Given the description of an element on the screen output the (x, y) to click on. 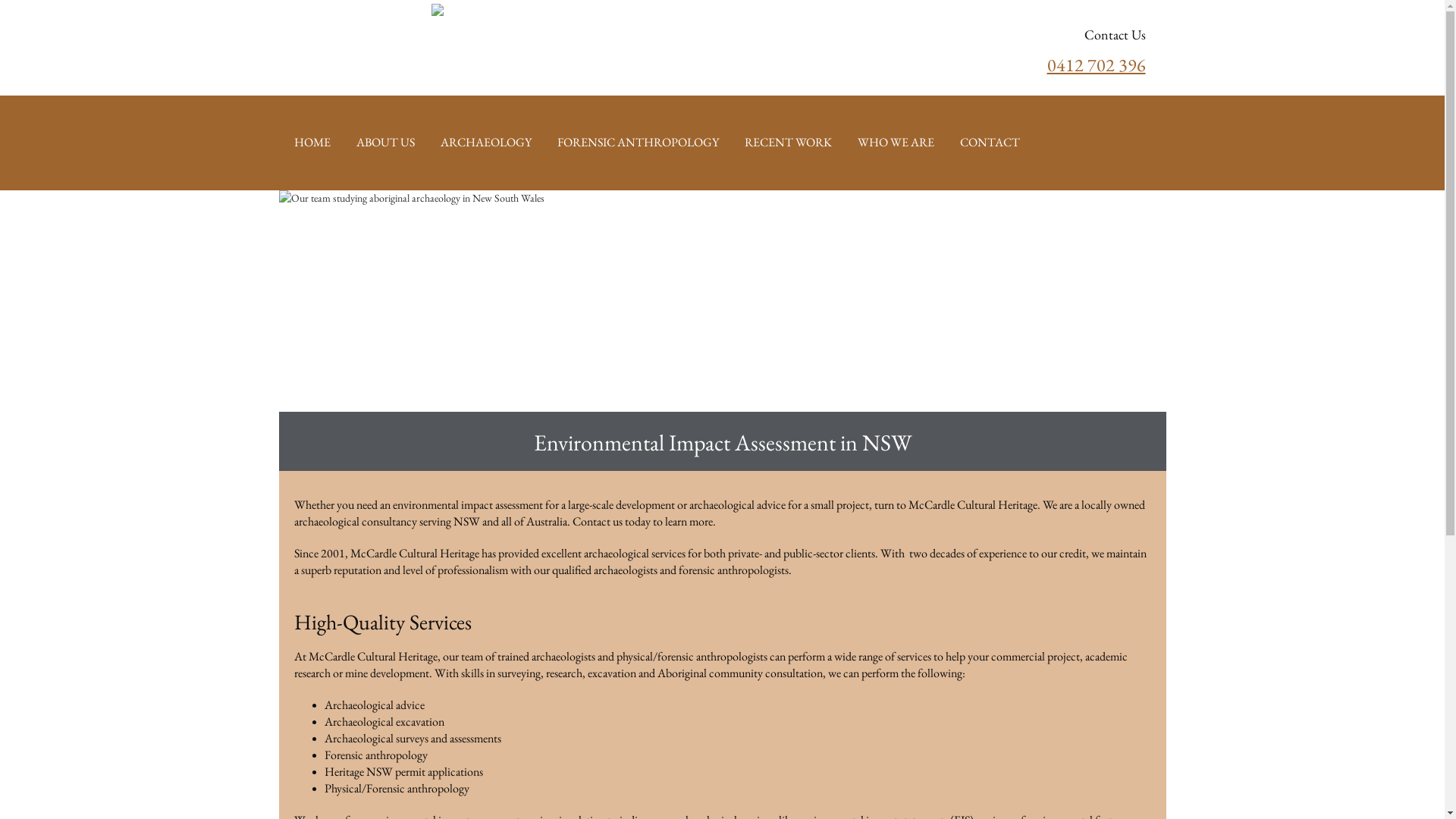
WHO WE ARE Element type: text (894, 142)
CONTACT Element type: text (989, 142)
ABOUT US Element type: text (385, 142)
mc cardle cultural heritage logo Element type: hover (500, 20)
0412 702 396 Element type: text (1095, 80)
ARCHAEOLOGY Element type: text (484, 142)
RECENT WORK Element type: text (787, 142)
FORENSIC ANTHROPOLOGY Element type: text (637, 142)
HOME Element type: text (312, 142)
